Given the description of an element on the screen output the (x, y) to click on. 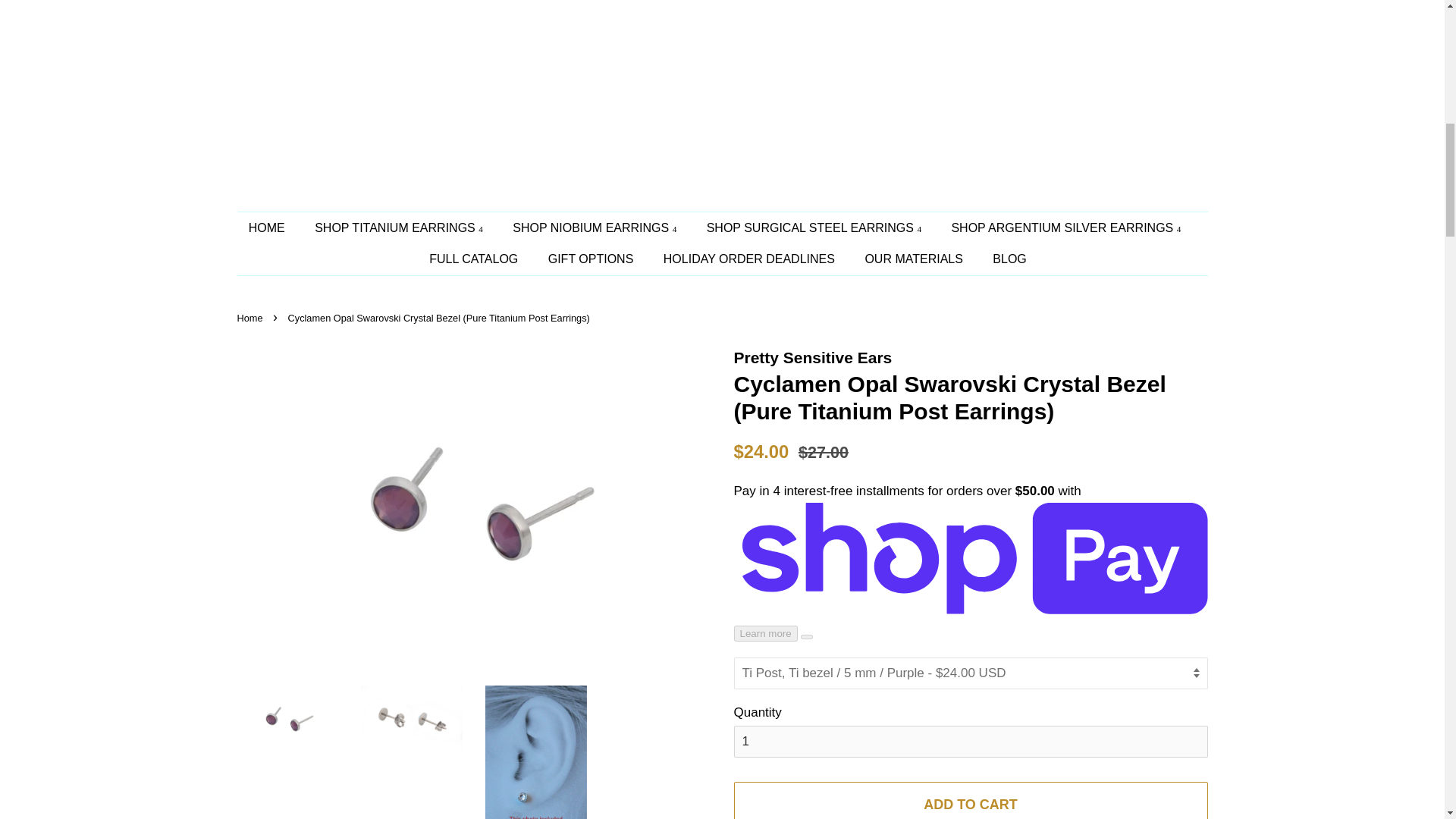
SHOP ARGENTIUM SILVER EARRINGS (1067, 227)
SHOP TITANIUM EARRINGS (399, 227)
1 (970, 741)
SHOP SURGICAL STEEL EARRINGS (815, 227)
SHOP NIOBIUM EARRINGS (595, 227)
HOME (273, 227)
Back to the frontpage (250, 317)
